Given the description of an element on the screen output the (x, y) to click on. 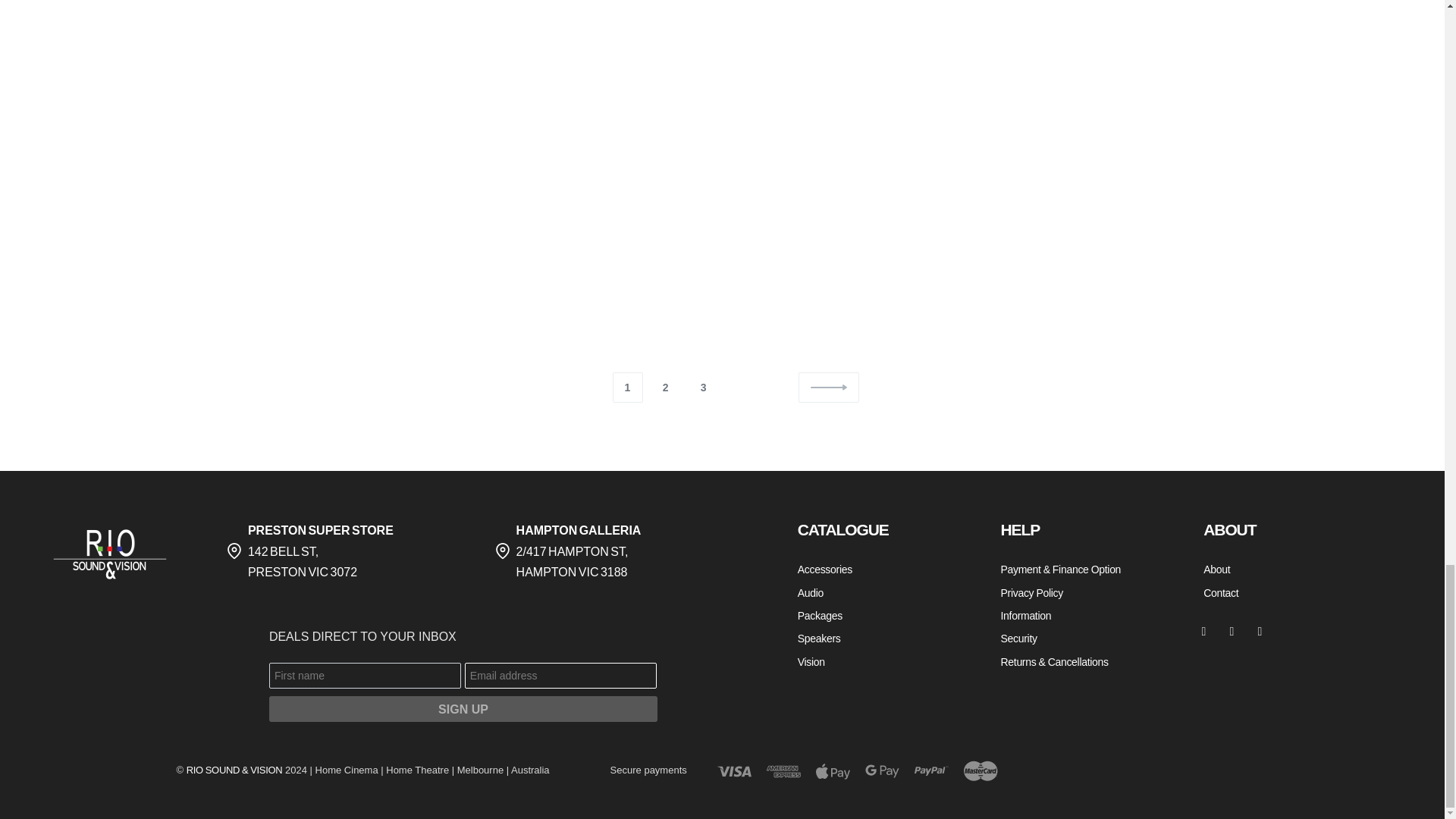
SIGN UP (463, 708)
